Given the description of an element on the screen output the (x, y) to click on. 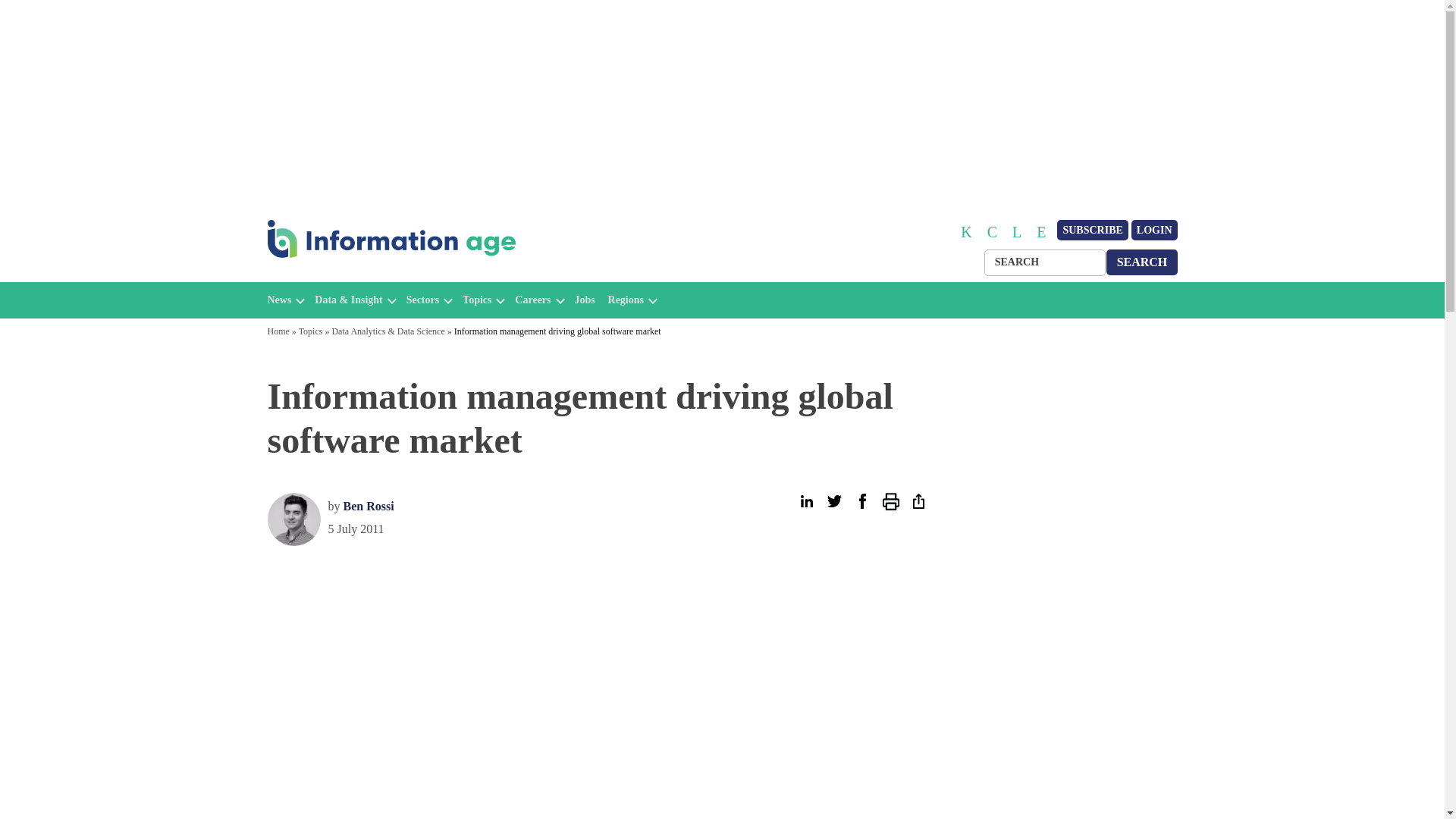
News (278, 299)
Information Age (331, 275)
3rd party ad content (1249, 596)
Sectors (422, 299)
Share on LinkedIn (805, 501)
3rd party ad content (1062, 596)
Share on Facebook (861, 501)
SUBSCRIBE (1091, 230)
3rd party ad content (195, 596)
Print this article (890, 501)
LOGIN (1154, 230)
Tweet this article (835, 501)
SEARCH (1142, 261)
